Given the description of an element on the screen output the (x, y) to click on. 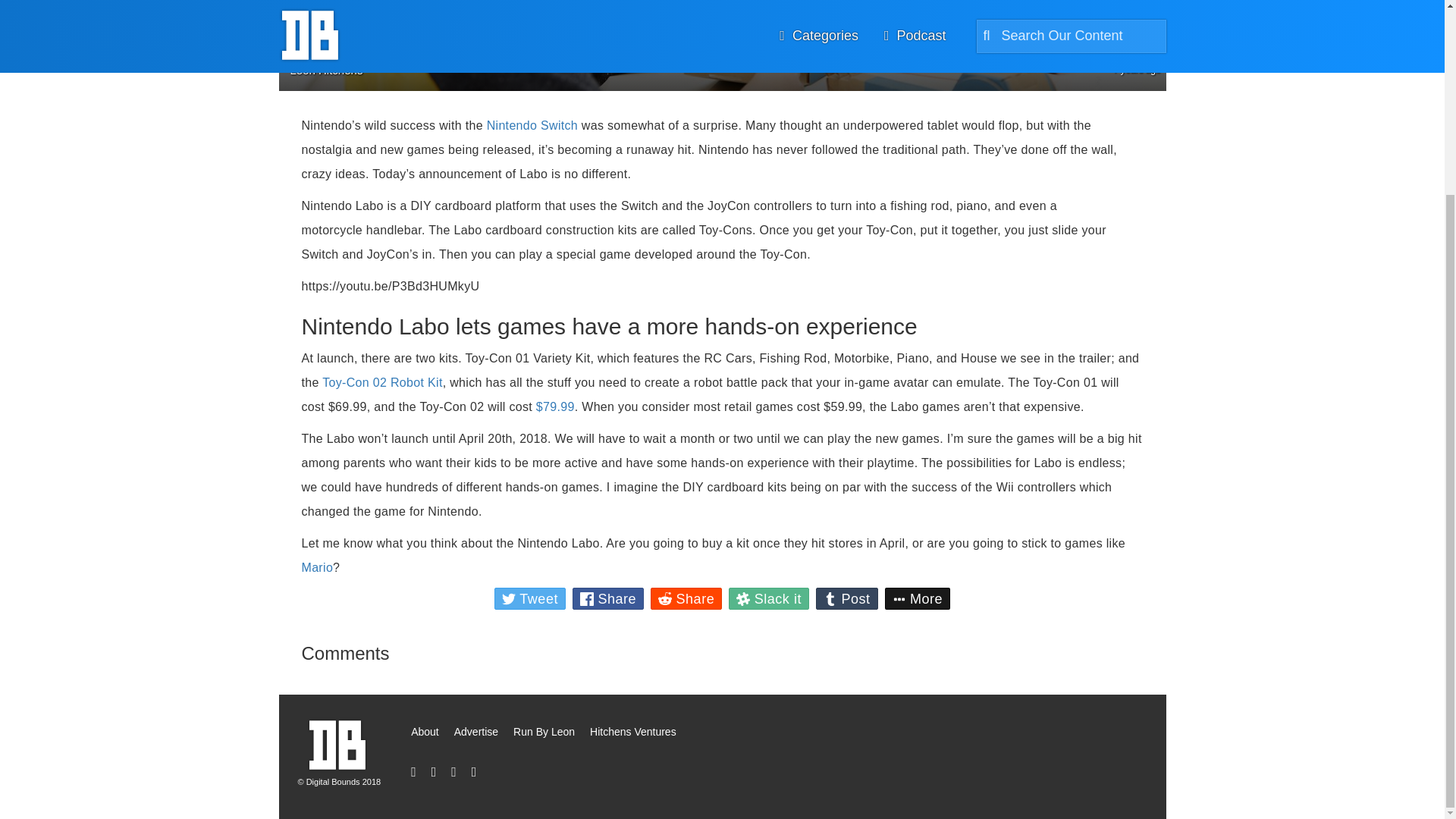
Mario (317, 567)
Run By Leon (543, 732)
Advertise (475, 732)
Toy-Con 02 Robot Kit (381, 382)
Nintendo Switch (532, 124)
Hitchens Ventures (633, 732)
About (424, 732)
